Given the description of an element on the screen output the (x, y) to click on. 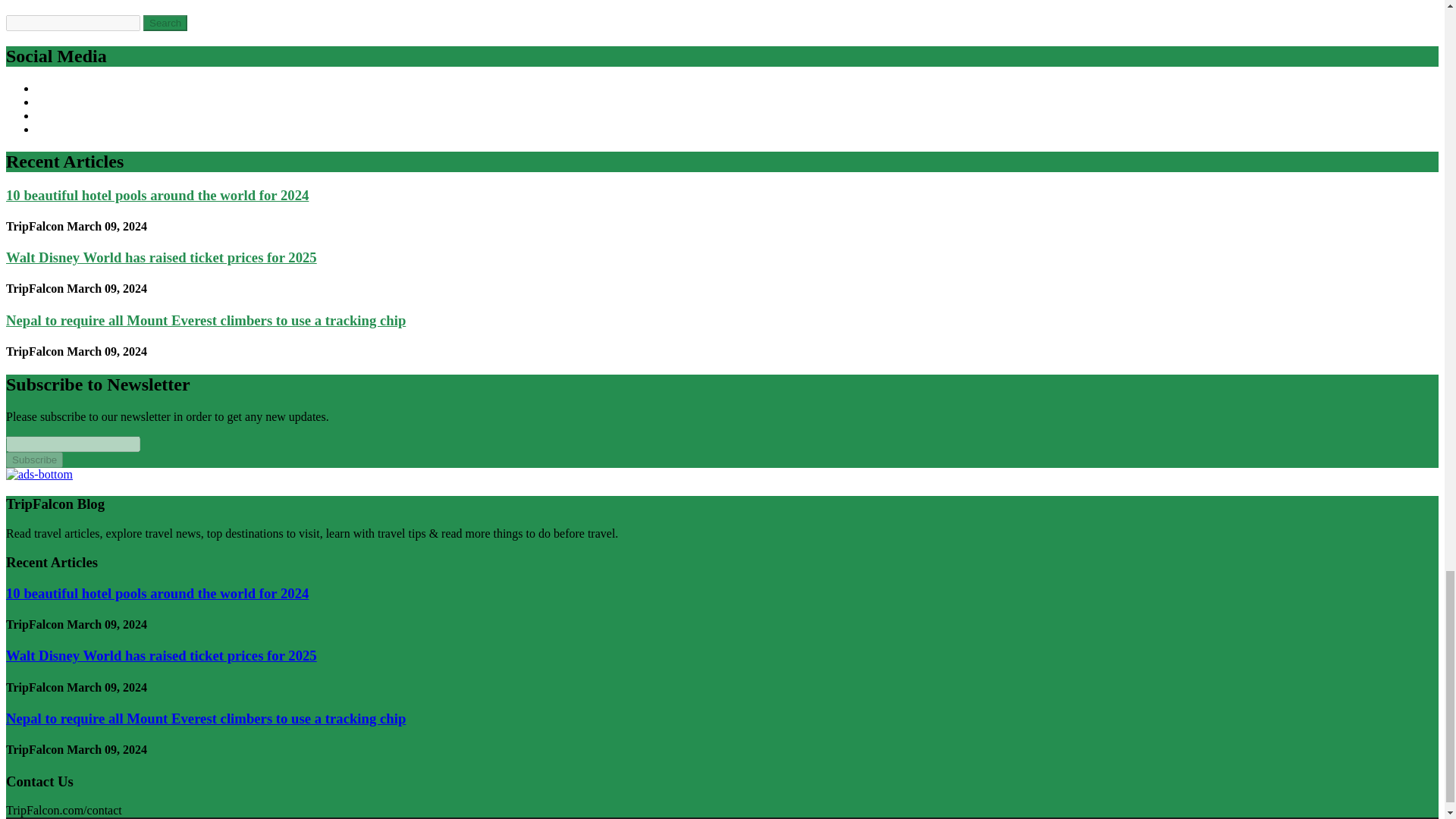
Subscribe (33, 459)
Subscribe (33, 459)
Walt Disney World has raised ticket prices for 2025 (161, 257)
10 beautiful hotel pools around the world for 2024 (156, 593)
Search (164, 23)
10 beautiful hotel pools around the world for 2024 (156, 195)
Search (164, 23)
Walt Disney World has raised ticket prices for 2025 (161, 655)
